Given the description of an element on the screen output the (x, y) to click on. 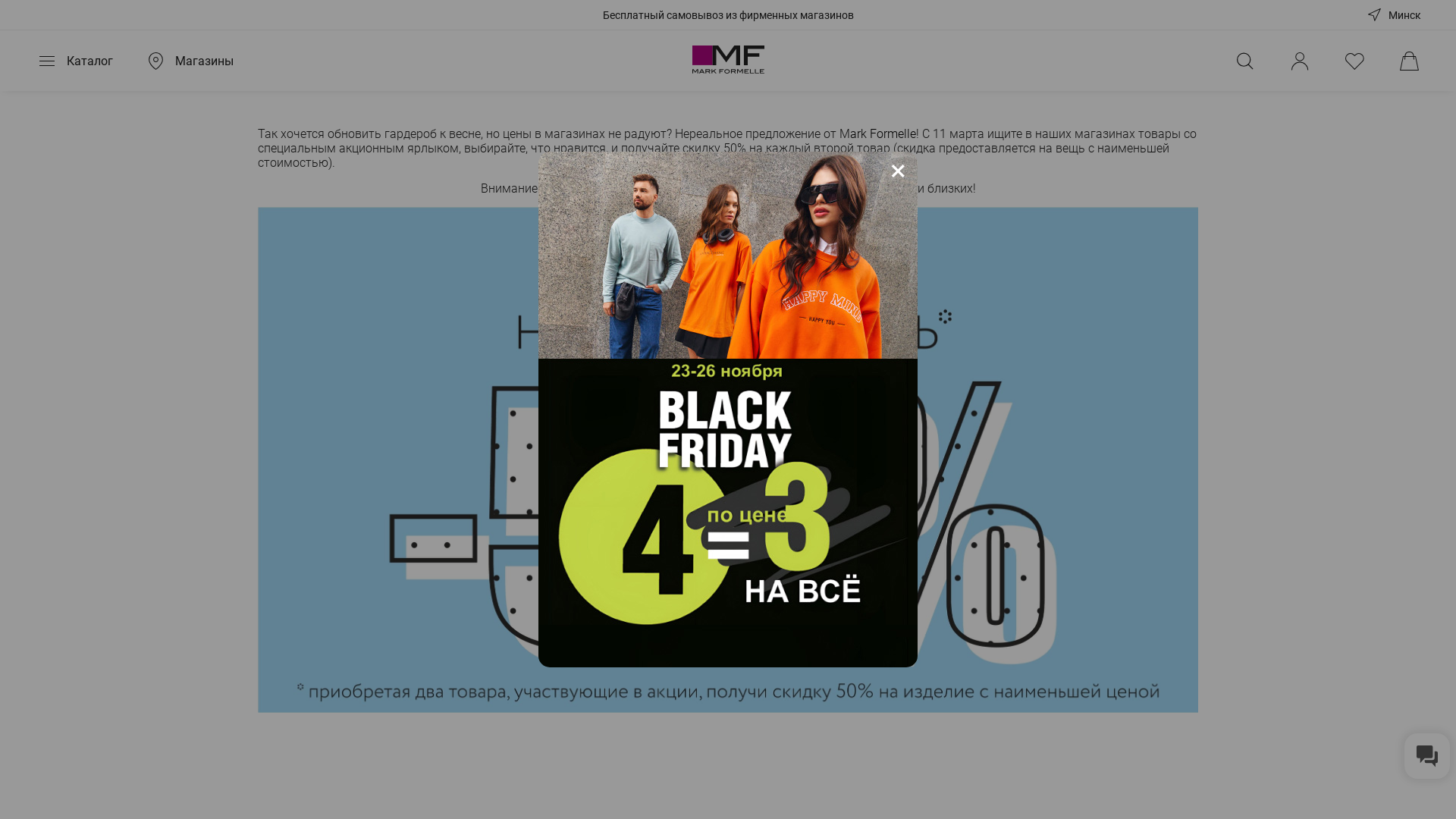
ark Formelle Element type: text (879, 134)
